Given the description of an element on the screen output the (x, y) to click on. 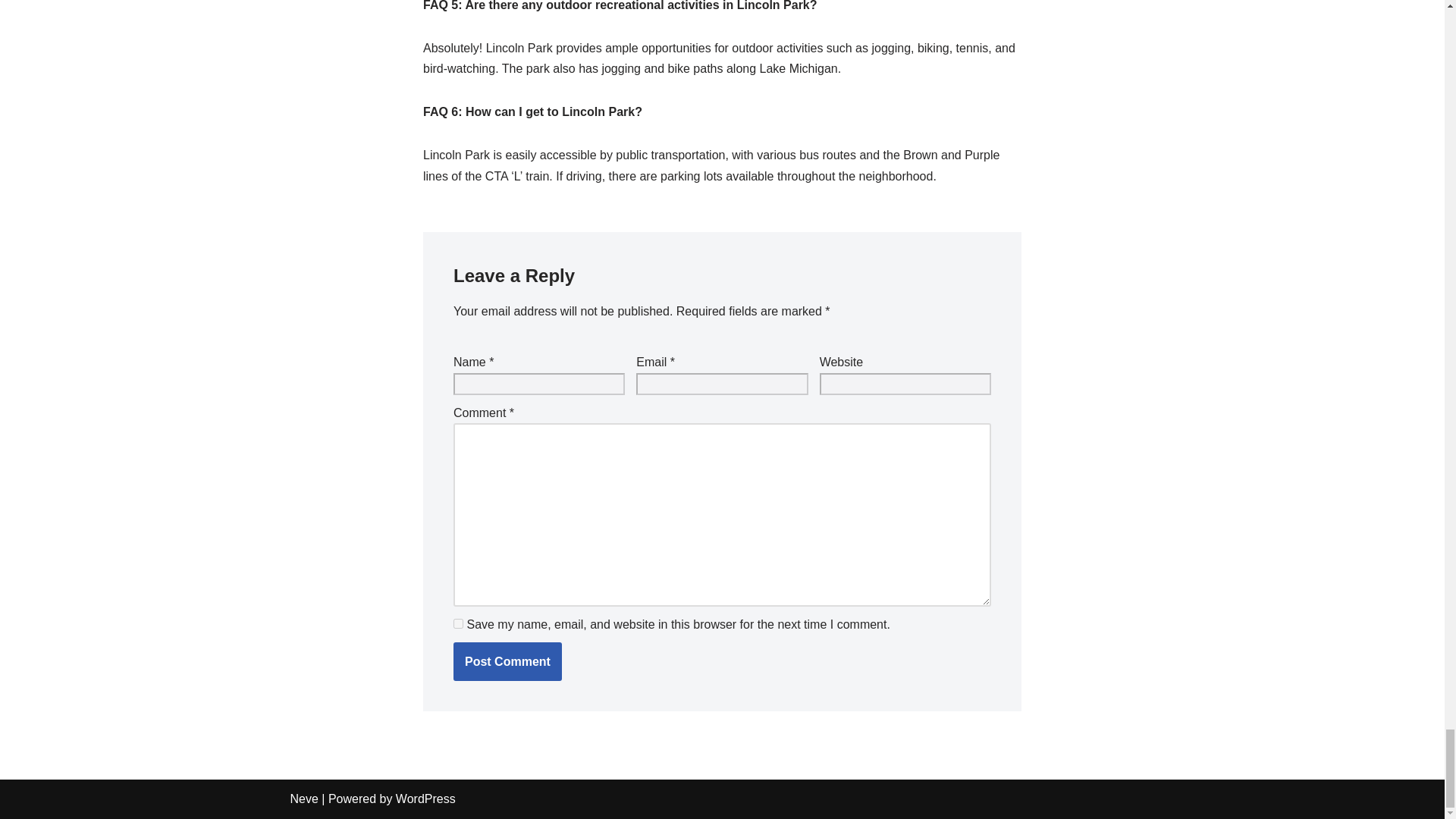
Post Comment (507, 661)
yes (457, 623)
Post Comment (507, 661)
WordPress (425, 798)
Neve (303, 798)
